Given the description of an element on the screen output the (x, y) to click on. 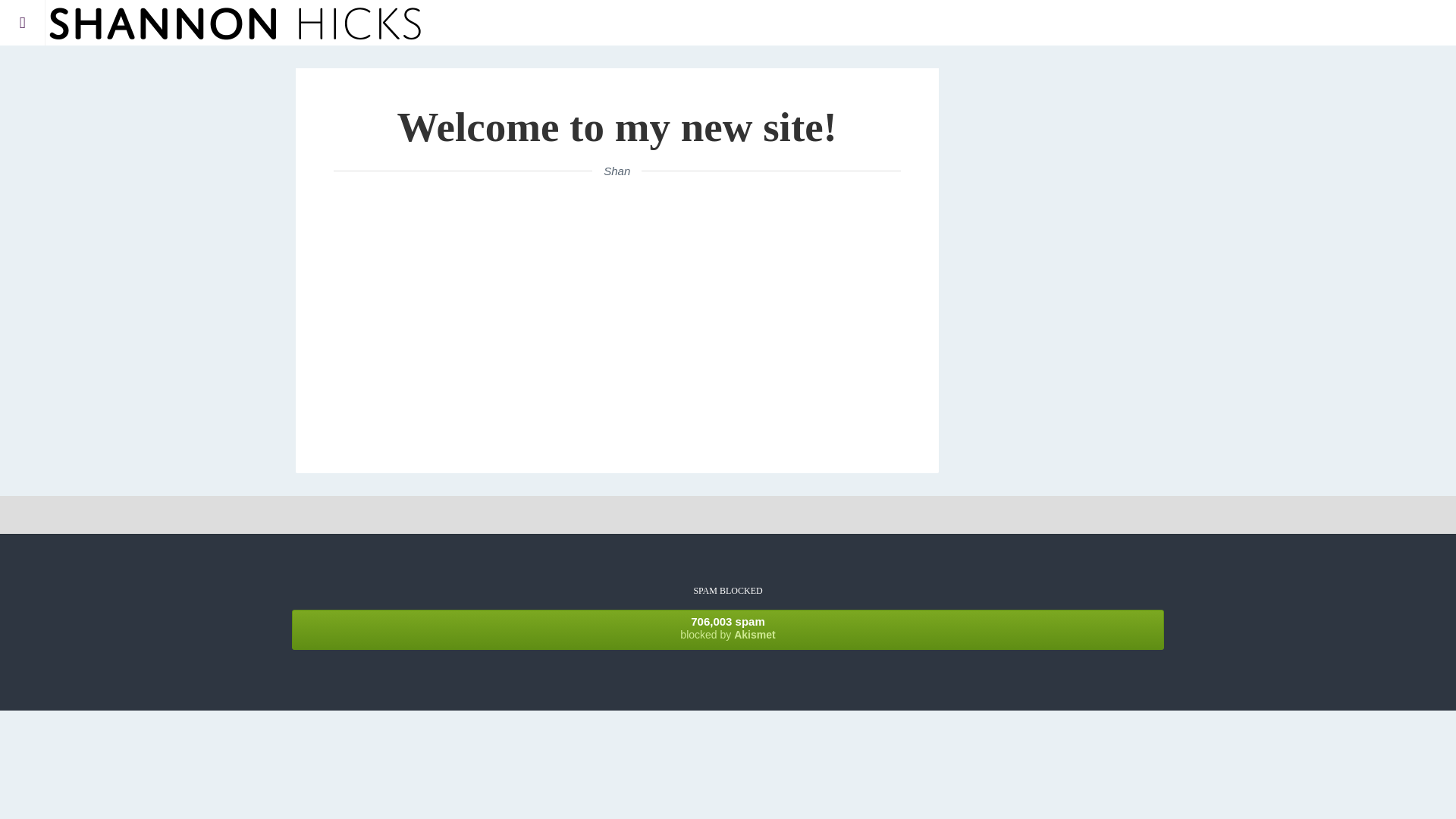
Posts by Shan (617, 170)
Projects (112, 65)
Projects (727, 629)
Projects (112, 65)
Shan (117, 73)
Shan's Blog (617, 170)
